Given the description of an element on the screen output the (x, y) to click on. 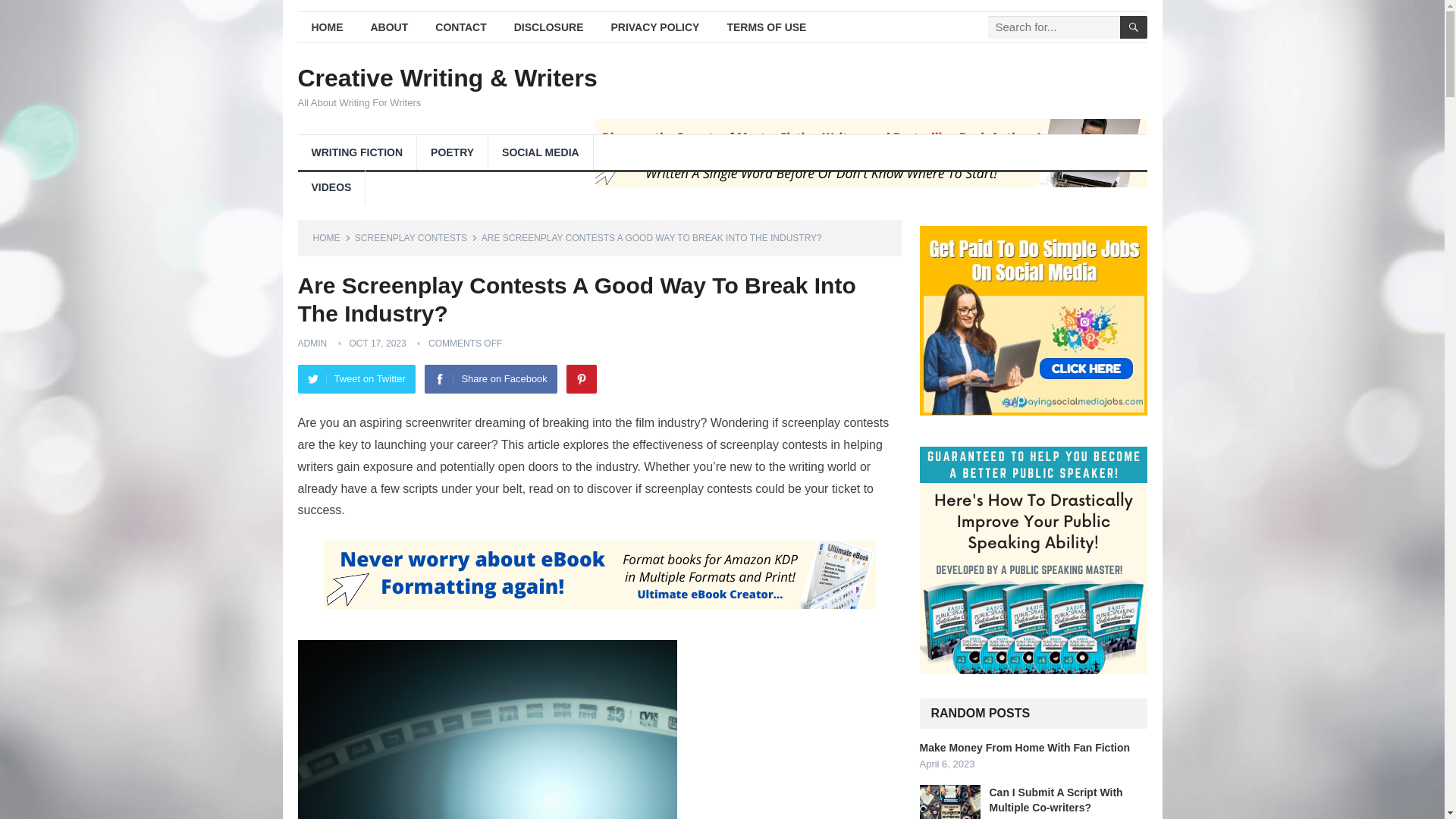
Pinterest (581, 378)
SOCIAL MEDIA (539, 152)
SCREENPLAY CONTESTS (416, 237)
HOME (326, 27)
HOME (331, 237)
CONTACT (460, 27)
Tweet on Twitter (355, 378)
View all posts in Screenplay Contests (416, 237)
Posts by admin (311, 343)
TERMS OF USE (766, 27)
